Given the description of an element on the screen output the (x, y) to click on. 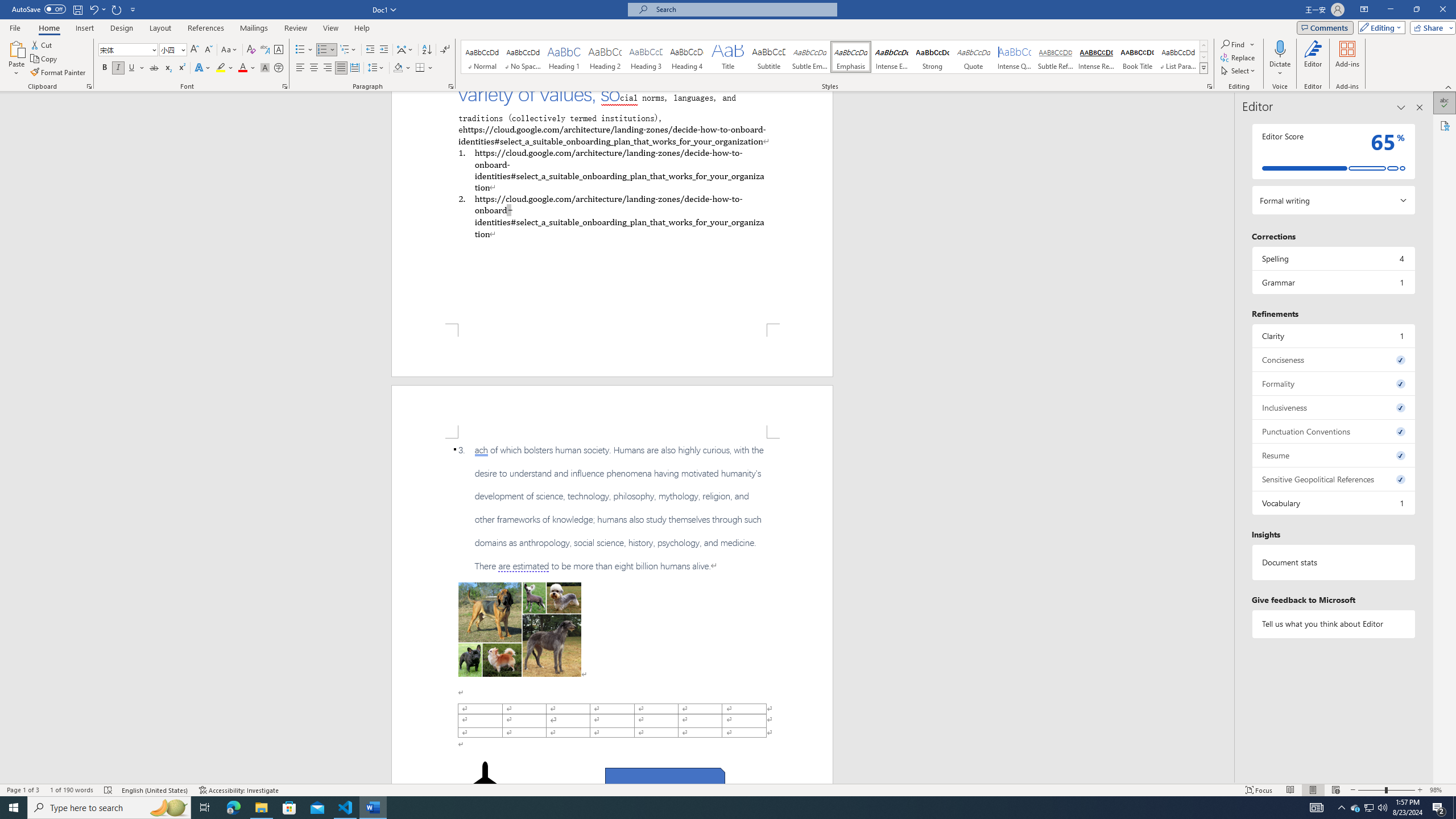
Spelling, 4 issues. Press space or enter to review items. (1333, 258)
Strong (932, 56)
Page 1 content (611, 207)
Conciseness, 0 issues. Press space or enter to review items. (1333, 359)
Subtle Emphasis (809, 56)
